Given the description of an element on the screen output the (x, y) to click on. 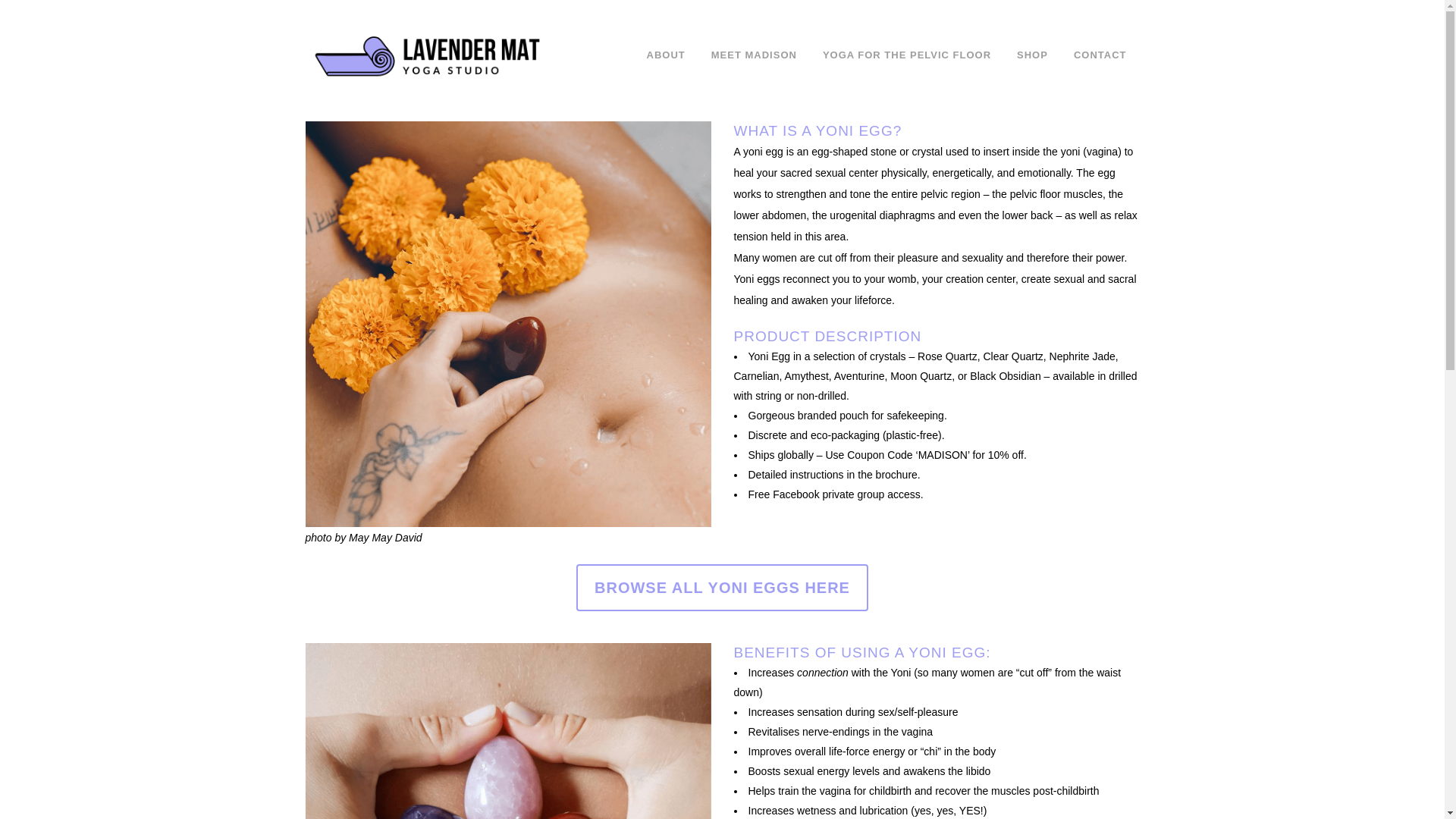
YOGA FOR THE PELVIC FLOOR (906, 54)
BROWSE ALL YONI EGGS HERE (721, 587)
MEET MADISON (753, 54)
